Given the description of an element on the screen output the (x, y) to click on. 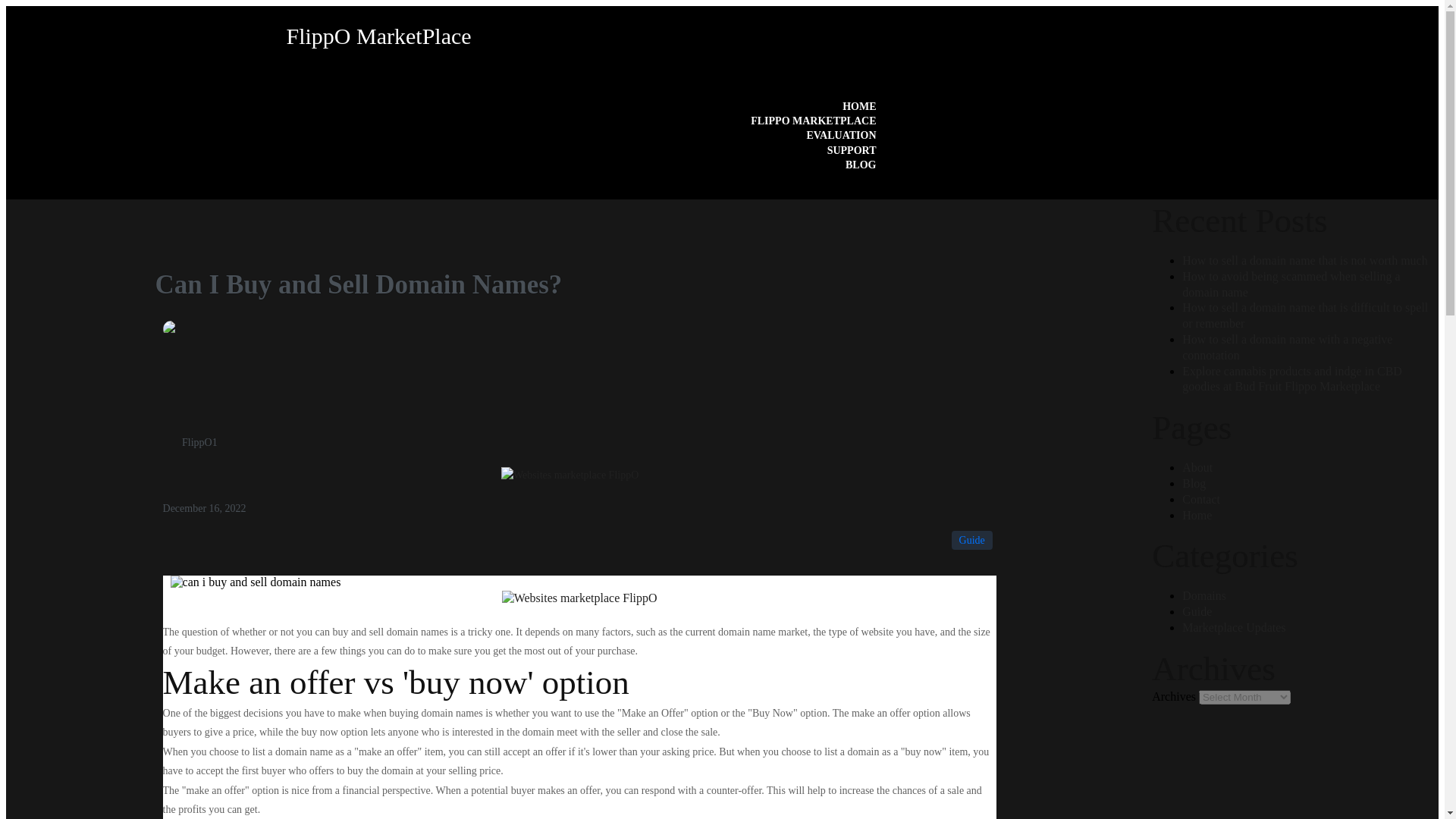
Guide (1196, 611)
How to sell a domain name that is not worth much (1305, 259)
SUPPORT (851, 150)
Website For Sell FlippO (569, 474)
FLIPPO MARKETPLACE (813, 120)
BLOG (860, 164)
How to avoid being scammed when selling a domain name (1291, 284)
Domains (1203, 594)
Can I Buy and Sell Domain Names? (255, 581)
December 16, 2022 (204, 508)
Can I Buy and Sell Domain Names? (171, 329)
Website For Sell FlippO (580, 597)
Marketplace Updates (1233, 626)
How to sell a domain name with a negative connotation (1286, 346)
